Given the description of an element on the screen output the (x, y) to click on. 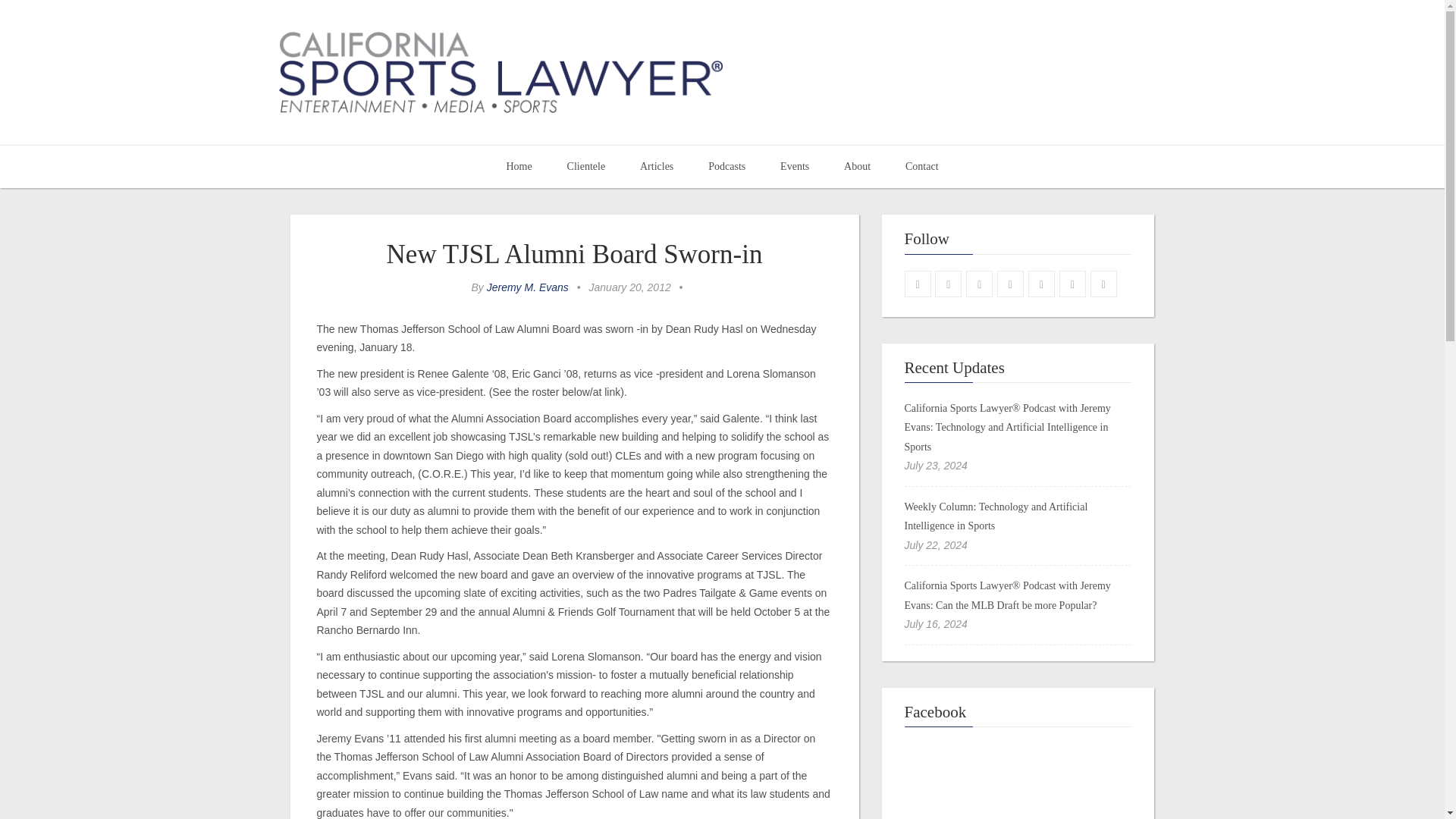
About (857, 166)
Jeremy M. Evans (527, 287)
Home (518, 166)
Podcasts (727, 166)
Clientele (586, 166)
Articles (656, 166)
Contact (922, 166)
Events (794, 166)
